Given the description of an element on the screen output the (x, y) to click on. 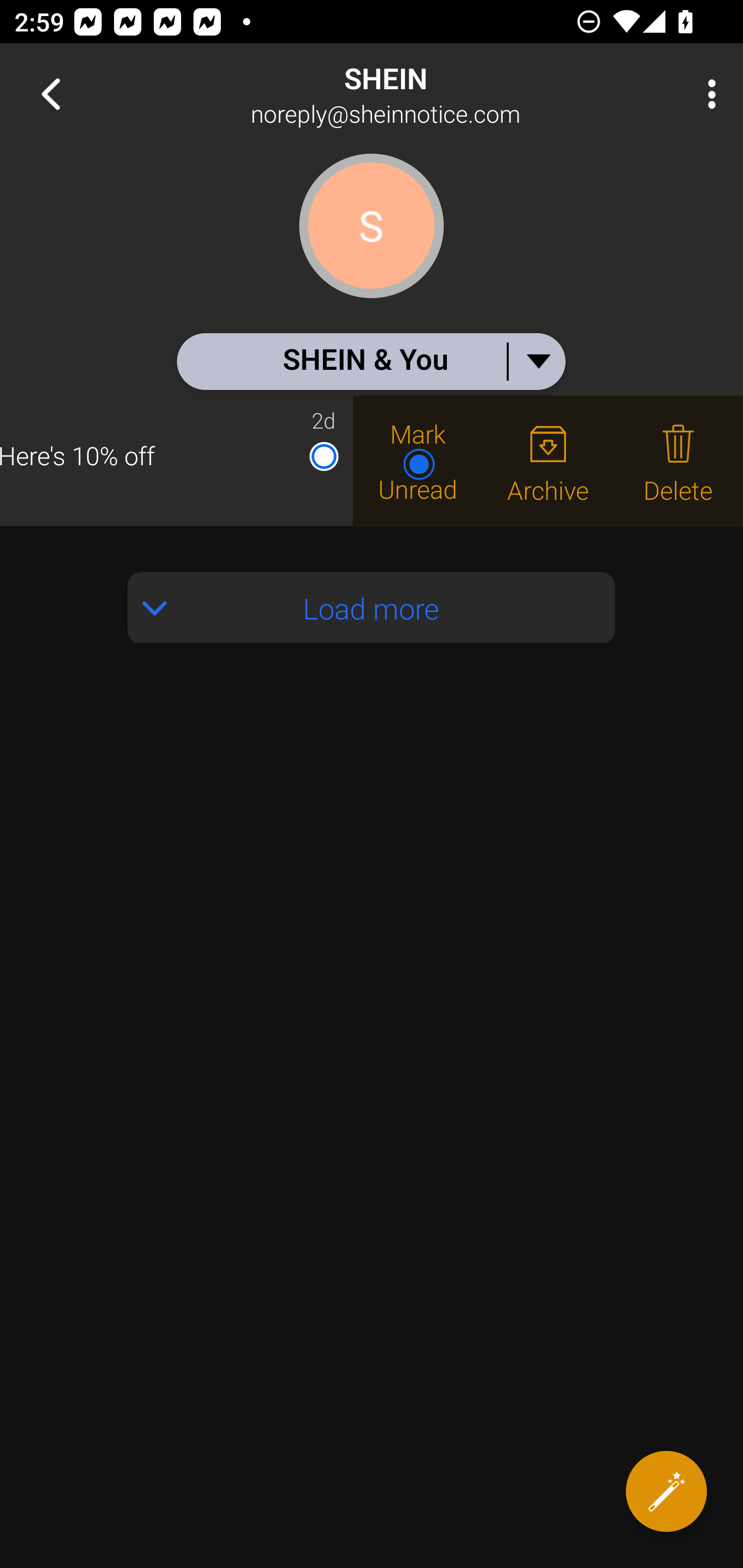
Navigate up (50, 93)
SHEIN noreply@sheinnotice.com (436, 93)
More Options (706, 93)
SHEIN & You (370, 361)
Unread Mark (417, 460)
Archive (547, 460)
Delete (677, 460)
Load more (371, 607)
